Given the description of an element on the screen output the (x, y) to click on. 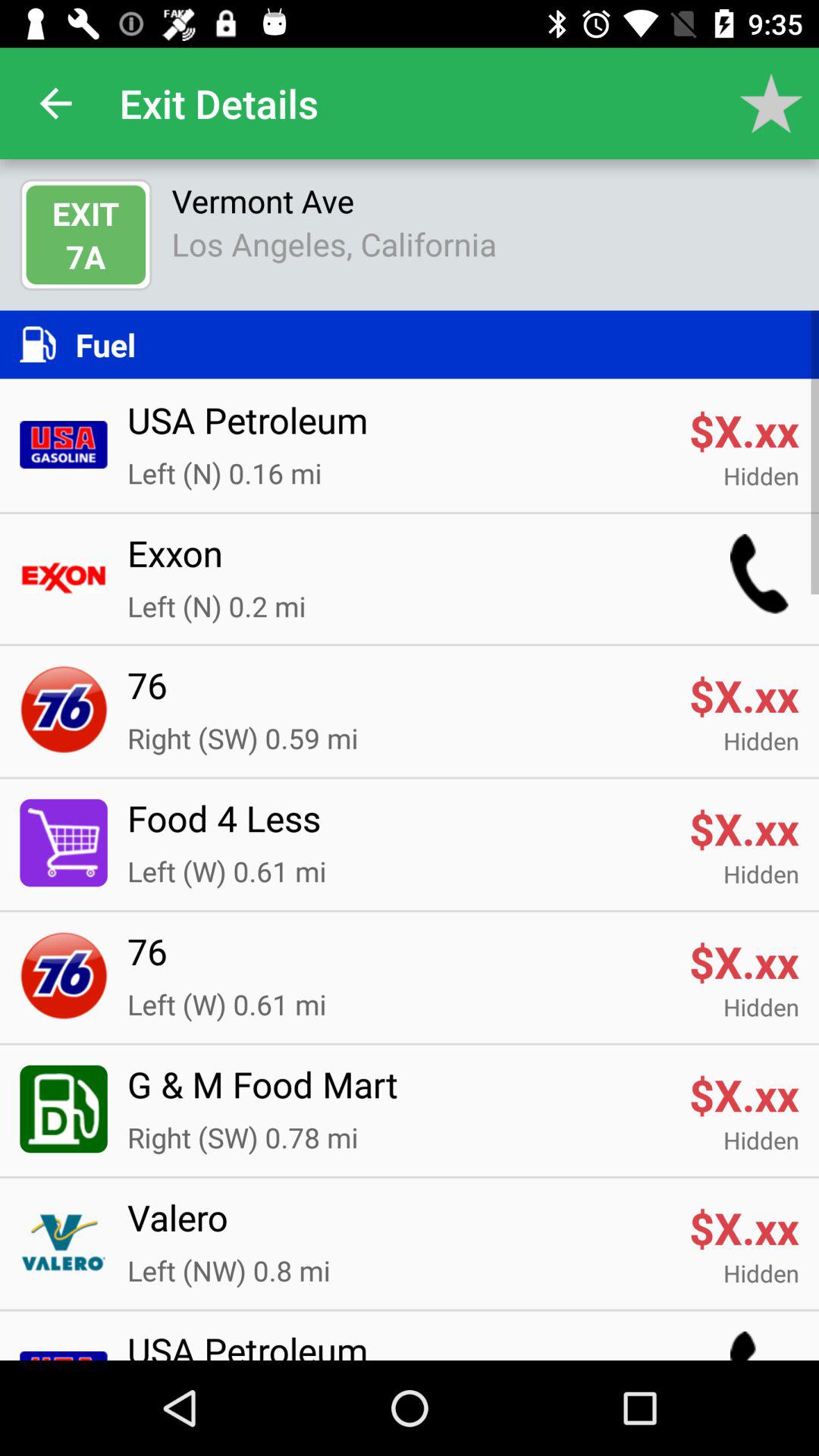
tap app next to exit details app (771, 103)
